Given the description of an element on the screen output the (x, y) to click on. 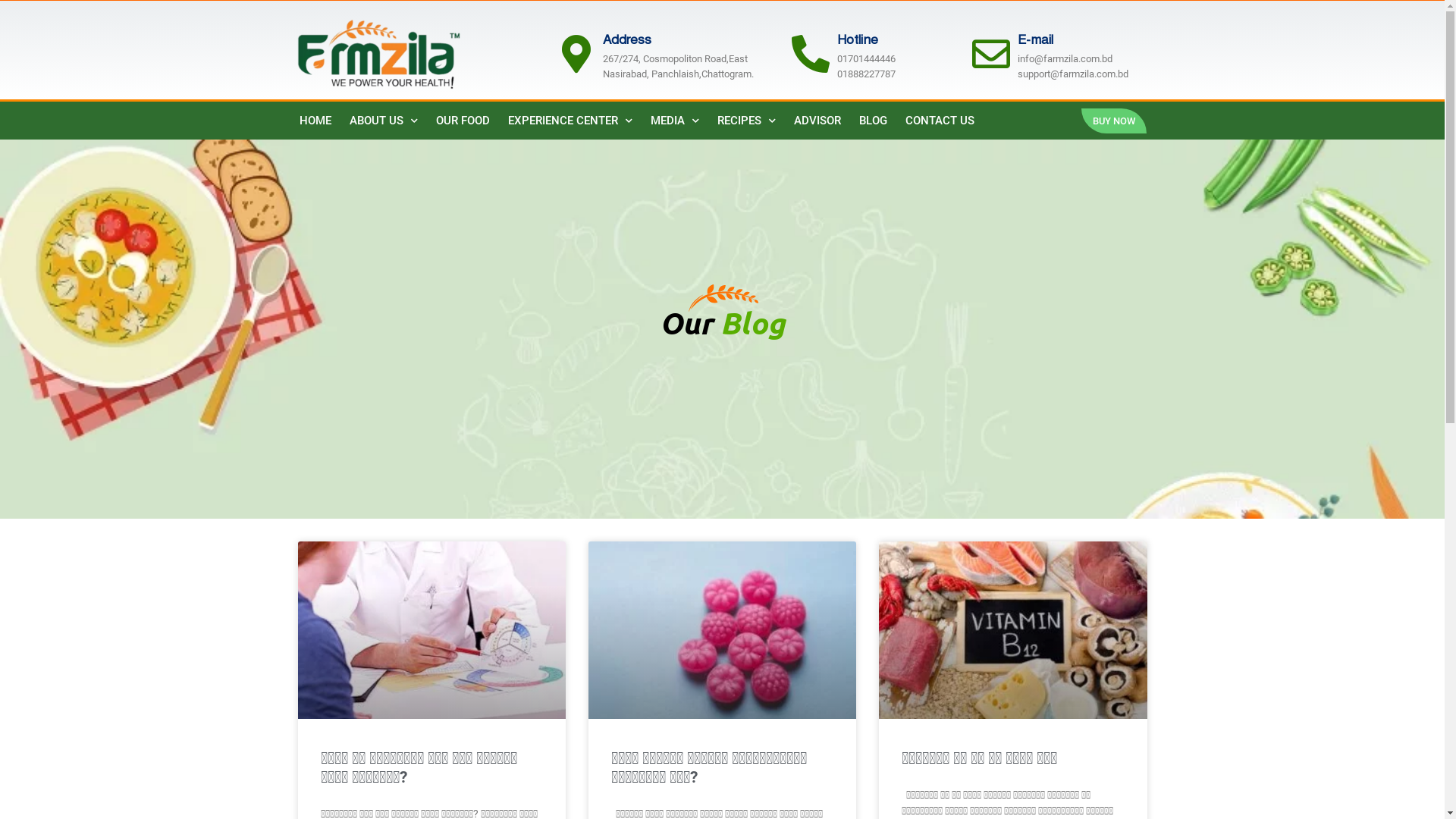
RECIPES Element type: text (746, 120)
MEDIA Element type: text (674, 120)
BUY NOW Element type: text (1113, 120)
CONTACT US Element type: text (939, 120)
HOME Element type: text (314, 120)
ABOUT US Element type: text (382, 120)
OUR FOOD Element type: text (462, 120)
BLOG Element type: text (872, 120)
EXPERIENCE CENTER Element type: text (569, 120)
ADVISOR Element type: text (816, 120)
